Given the description of an element on the screen output the (x, y) to click on. 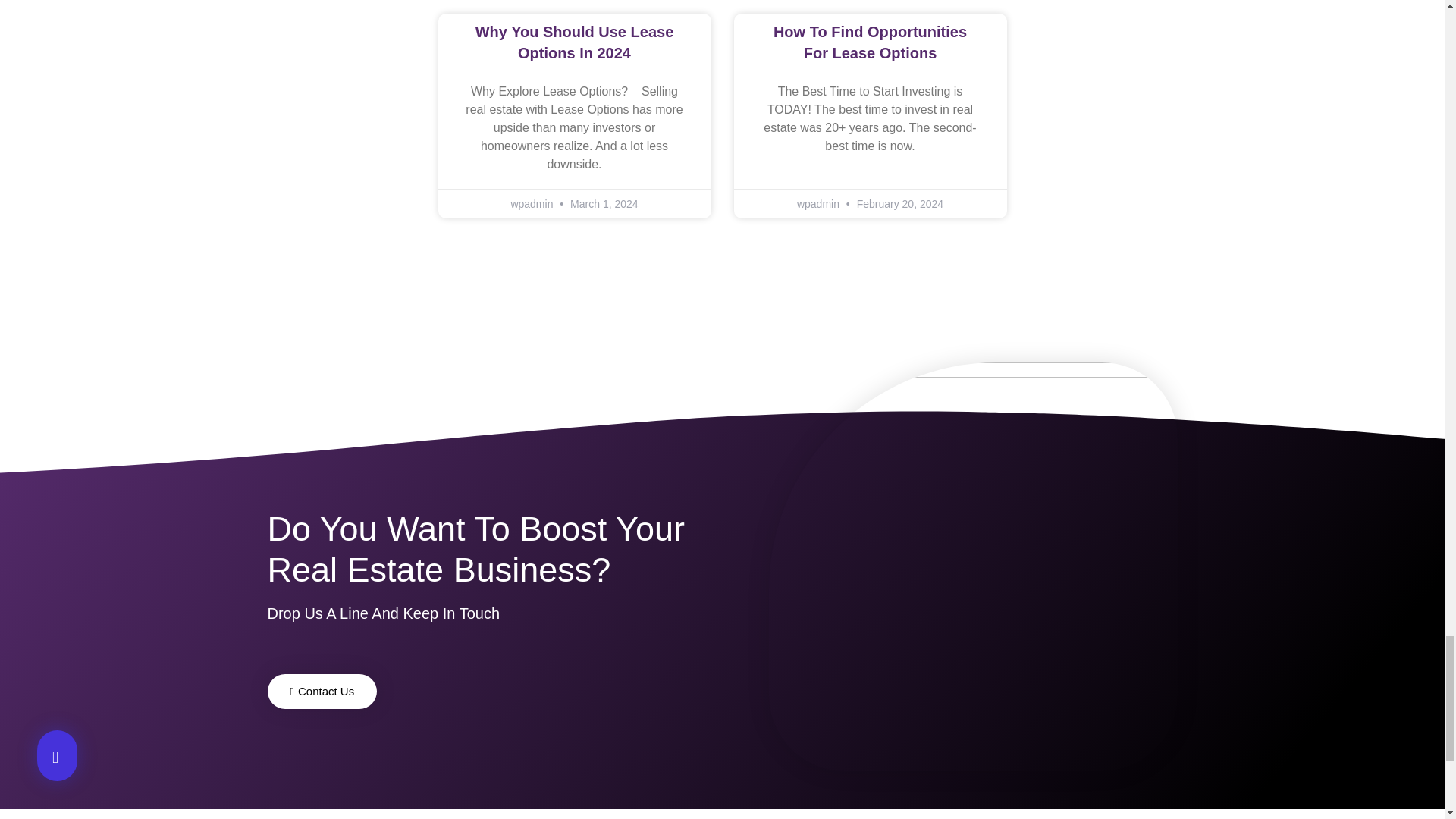
Contact Us (321, 691)
Why You Should Use Lease Options In 2024 (575, 42)
How To Find Opportunities For Lease Options (869, 42)
